Given the description of an element on the screen output the (x, y) to click on. 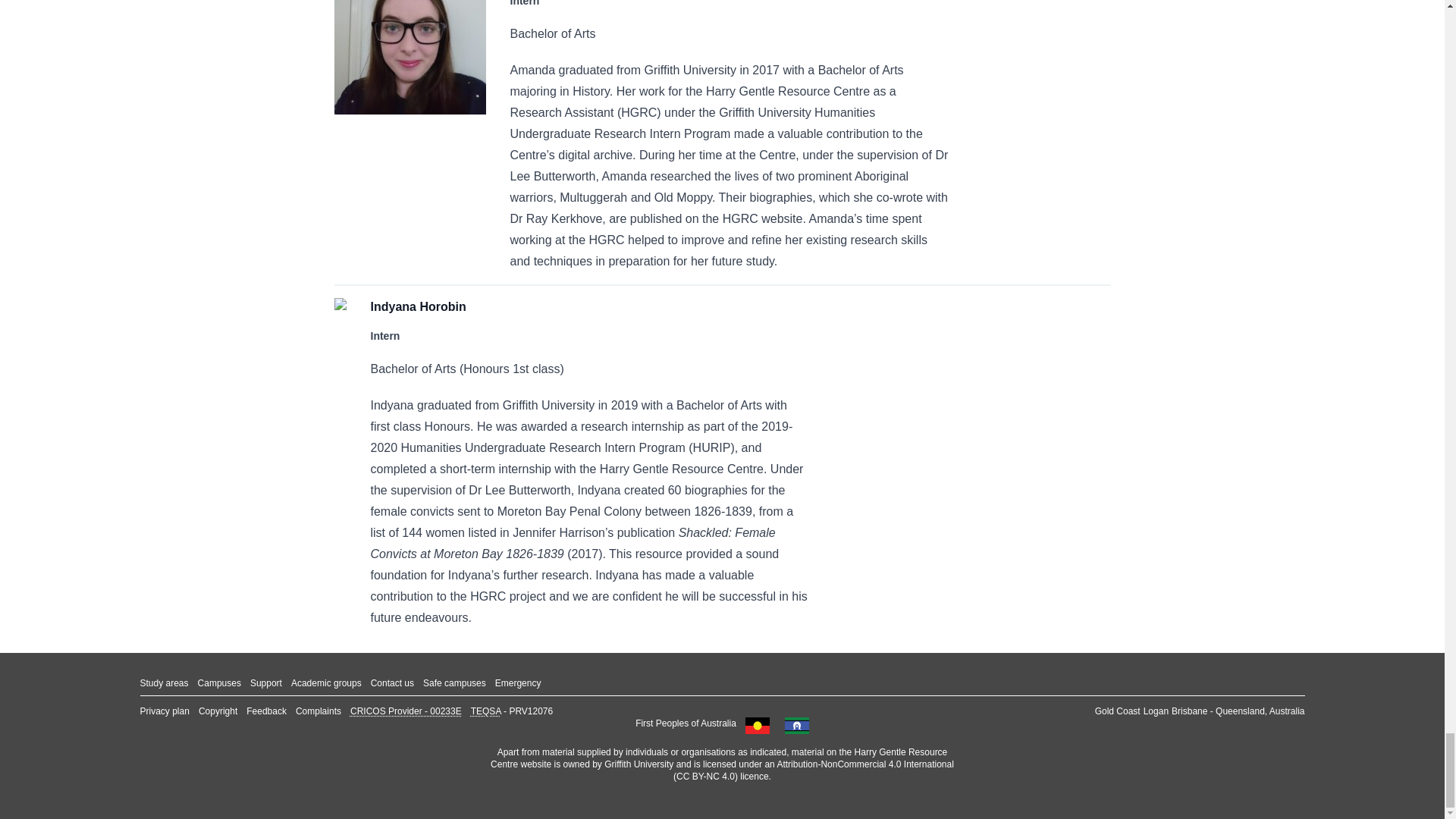
Privacy plan (164, 710)
Safe campuses (454, 683)
Tertiary Education Quality and Standards Agency (485, 710)
Contact us (392, 683)
Logan (1155, 710)
Emergency (518, 683)
Campuses (219, 683)
TEQSA - PRV12076 (511, 710)
Support (266, 683)
Academic groups (326, 683)
